Given the description of an element on the screen output the (x, y) to click on. 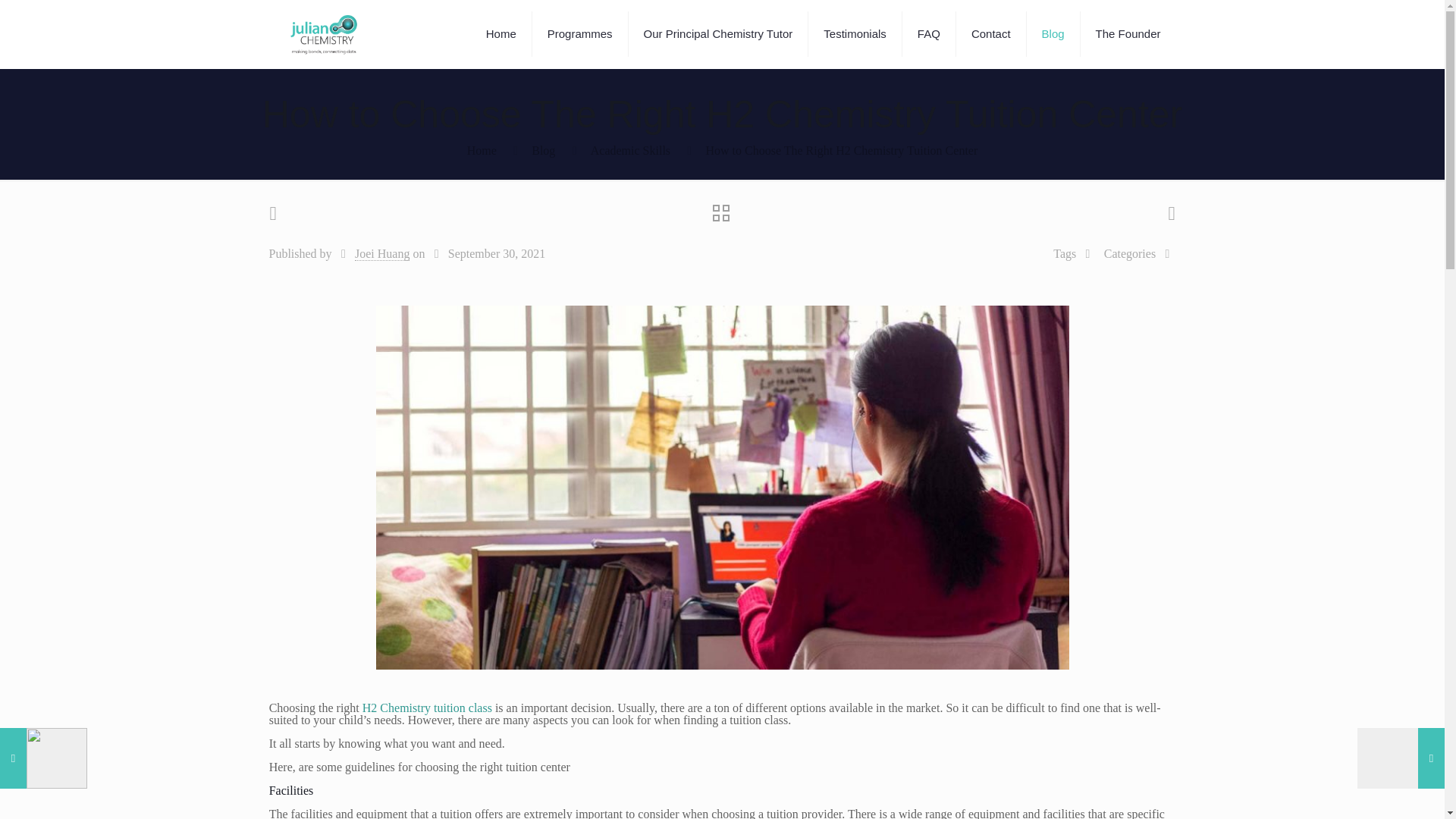
Testimonials (855, 33)
The Founder (1128, 33)
Contact (991, 33)
Blog (1053, 33)
Home (481, 150)
Academic Skills (630, 150)
Programmes (580, 33)
Blog (542, 150)
Home (501, 33)
FAQ (929, 33)
Joei Huang (382, 254)
Our Principal Chemistry Tutor (718, 33)
